Given the description of an element on the screen output the (x, y) to click on. 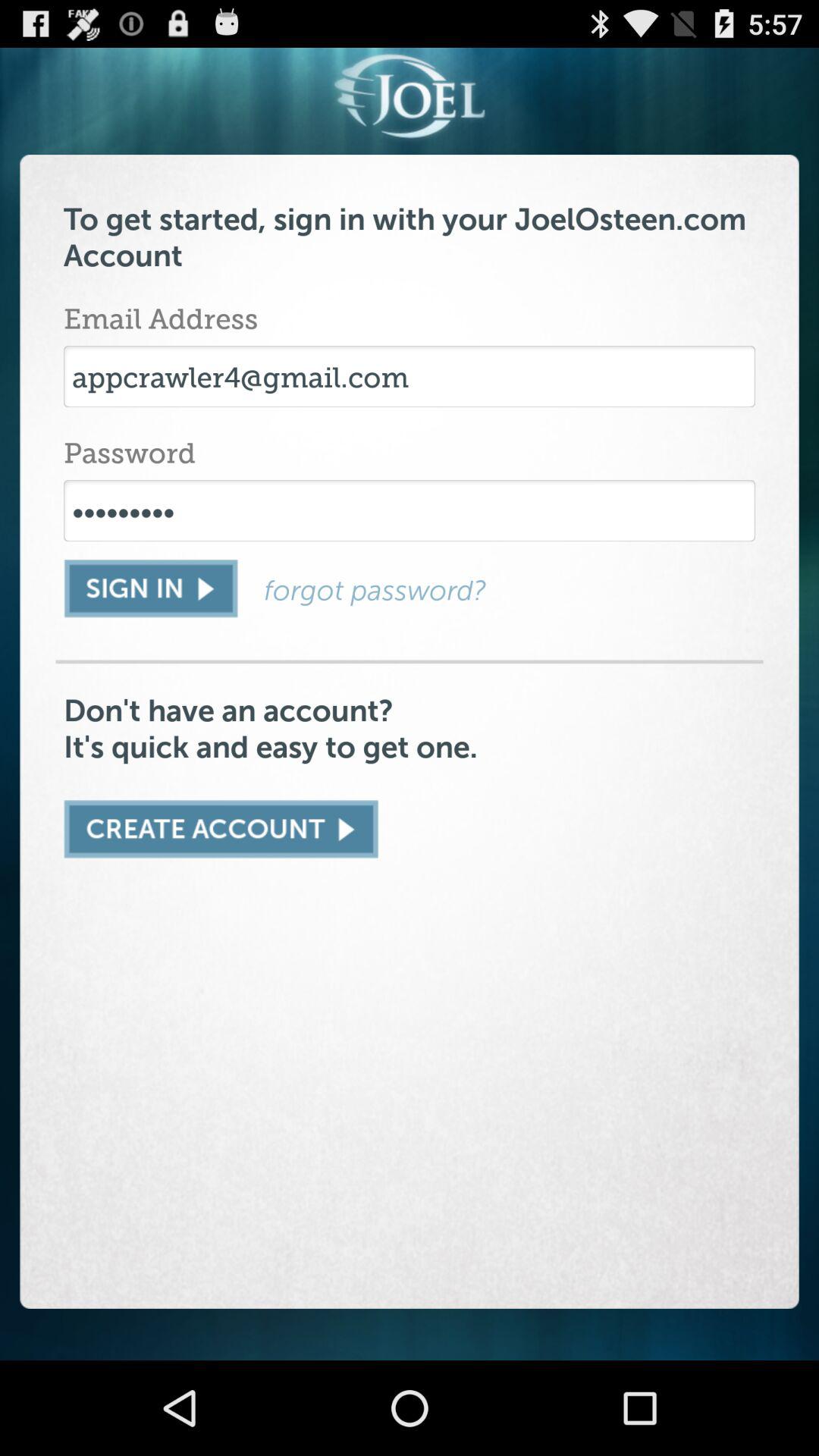
scroll until the appcrawler4@gmail.com (409, 376)
